Given the description of an element on the screen output the (x, y) to click on. 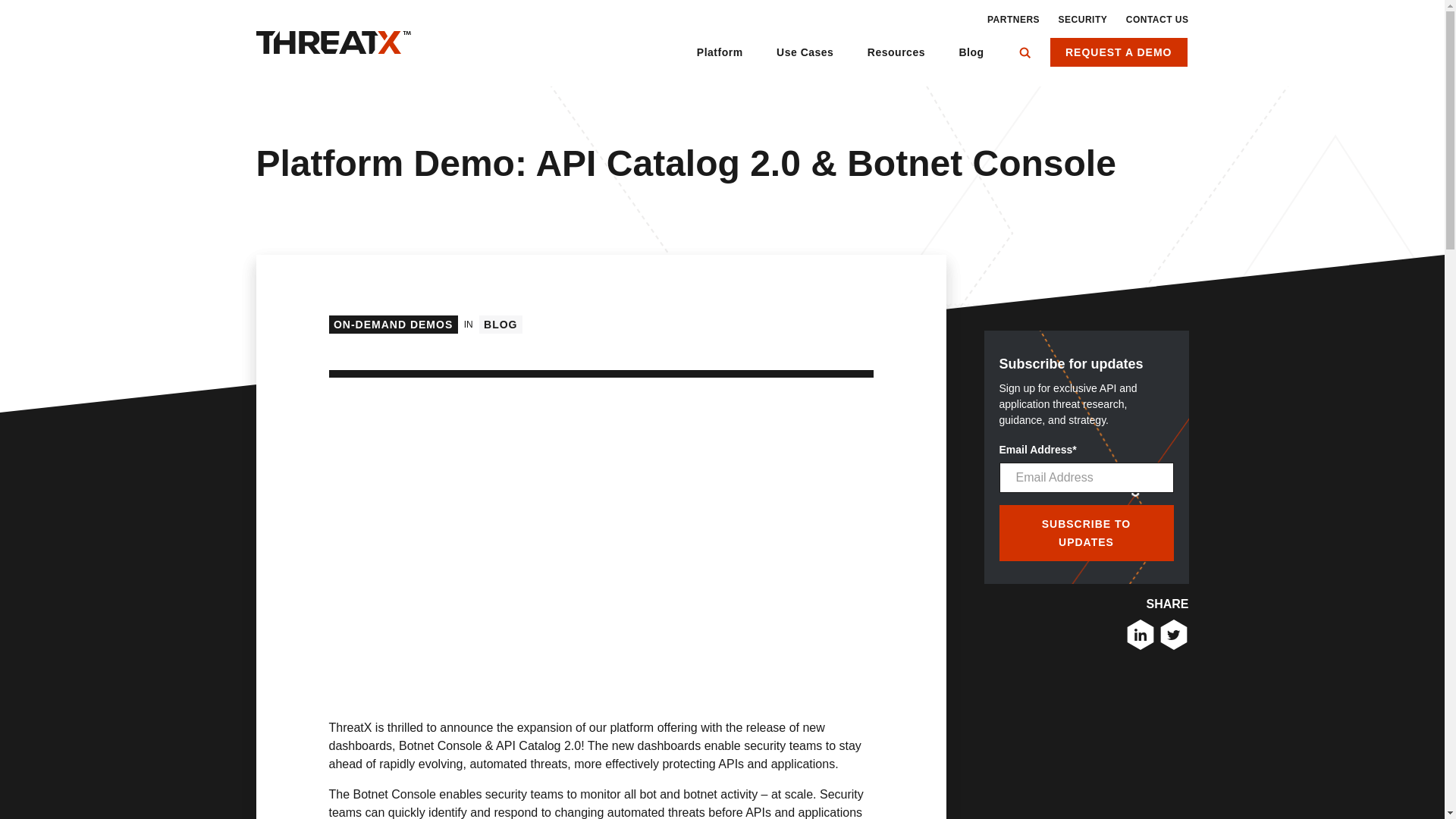
Subscribe to Updates (1085, 533)
PARTNERS (1013, 19)
SECURITY (1083, 19)
Platform (719, 61)
YouTube video player (541, 533)
CONTACT US (1157, 19)
Resources (895, 61)
Use Cases (804, 61)
